Given the description of an element on the screen output the (x, y) to click on. 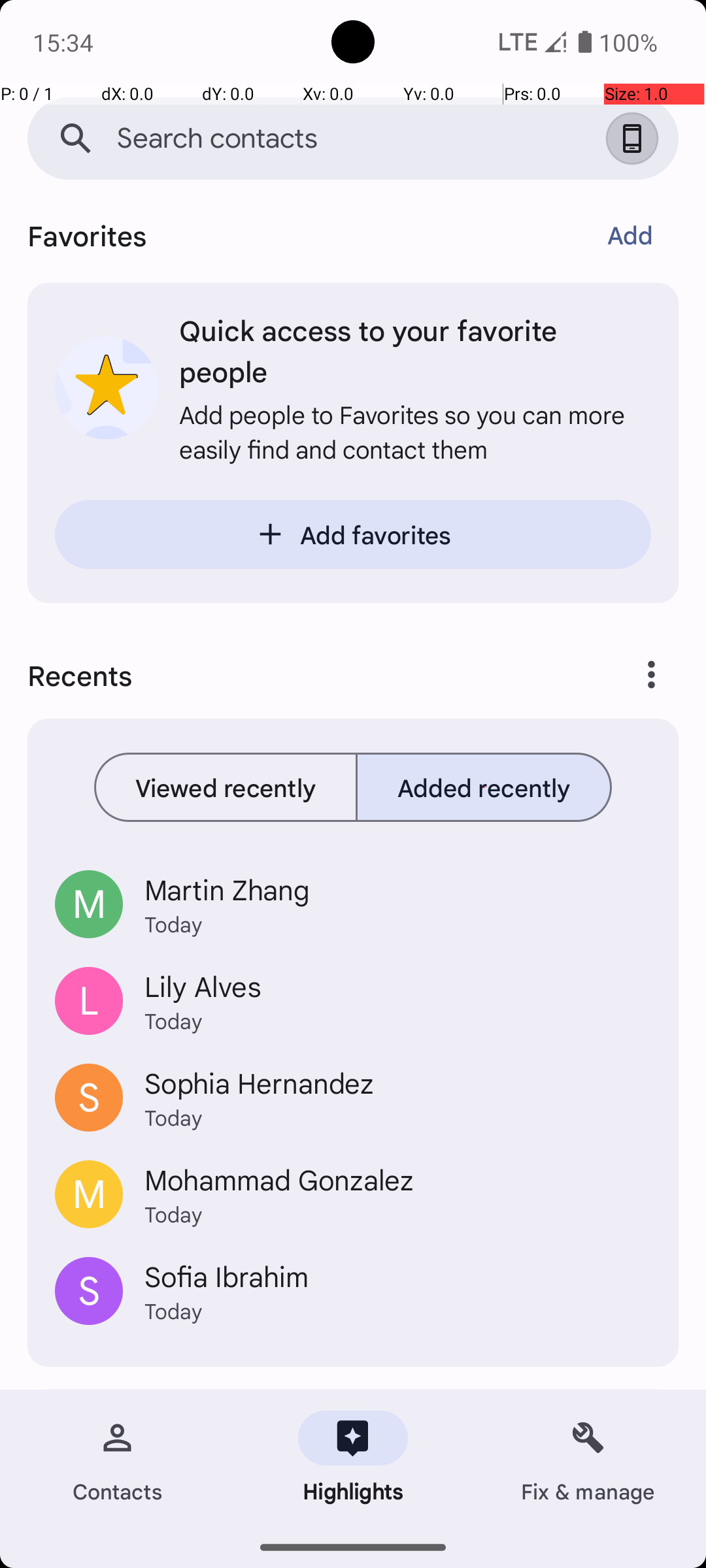
Quick access to your favorite people Element type: android.widget.TextView (415, 350)
Add people to Favorites so you can more easily find and contact them Element type: android.widget.TextView (415, 431)
Add favorites Element type: android.widget.Button (352, 534)
Recents Element type: android.widget.TextView (298, 674)
Viewed recently Element type: android.widget.CompoundButton (225, 787)
Added recently Element type: android.widget.CompoundButton (483, 787)
Martin Zhang Element type: android.widget.TextView (397, 888)
Lily Alves Element type: android.widget.TextView (397, 985)
Sophia Hernandez Element type: android.widget.TextView (397, 1082)
Mohammad Gonzalez Element type: android.widget.TextView (397, 1178)
Sofia Ibrahim Element type: android.widget.TextView (397, 1275)
